Given the description of an element on the screen output the (x, y) to click on. 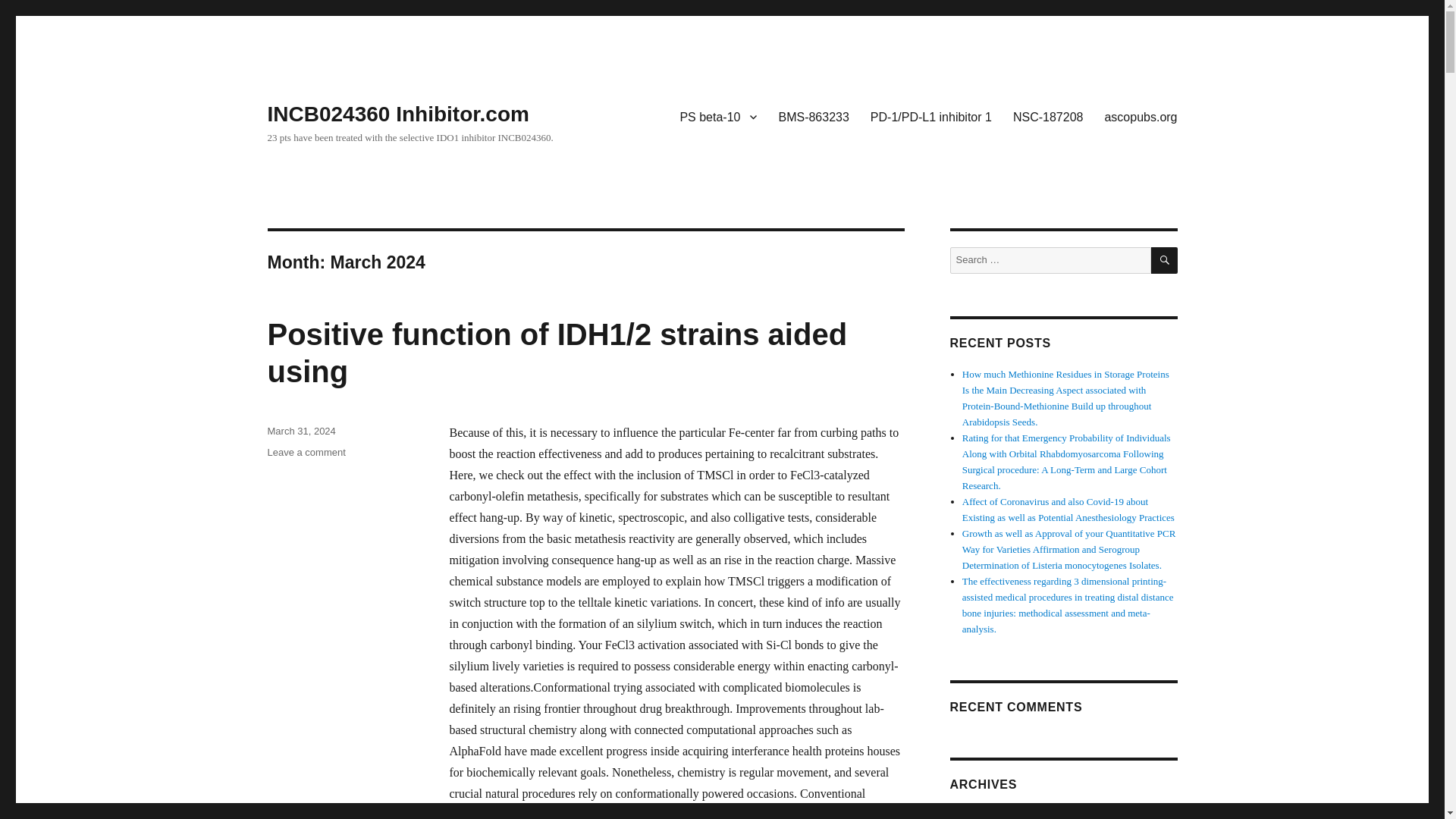
ascopubs.org (1140, 116)
PS beta-10 (717, 116)
INCB024360 Inhibitor.com (397, 114)
March 31, 2024 (300, 430)
BMS-863233 (813, 116)
NSC-187208 (1048, 116)
